Given the description of an element on the screen output the (x, y) to click on. 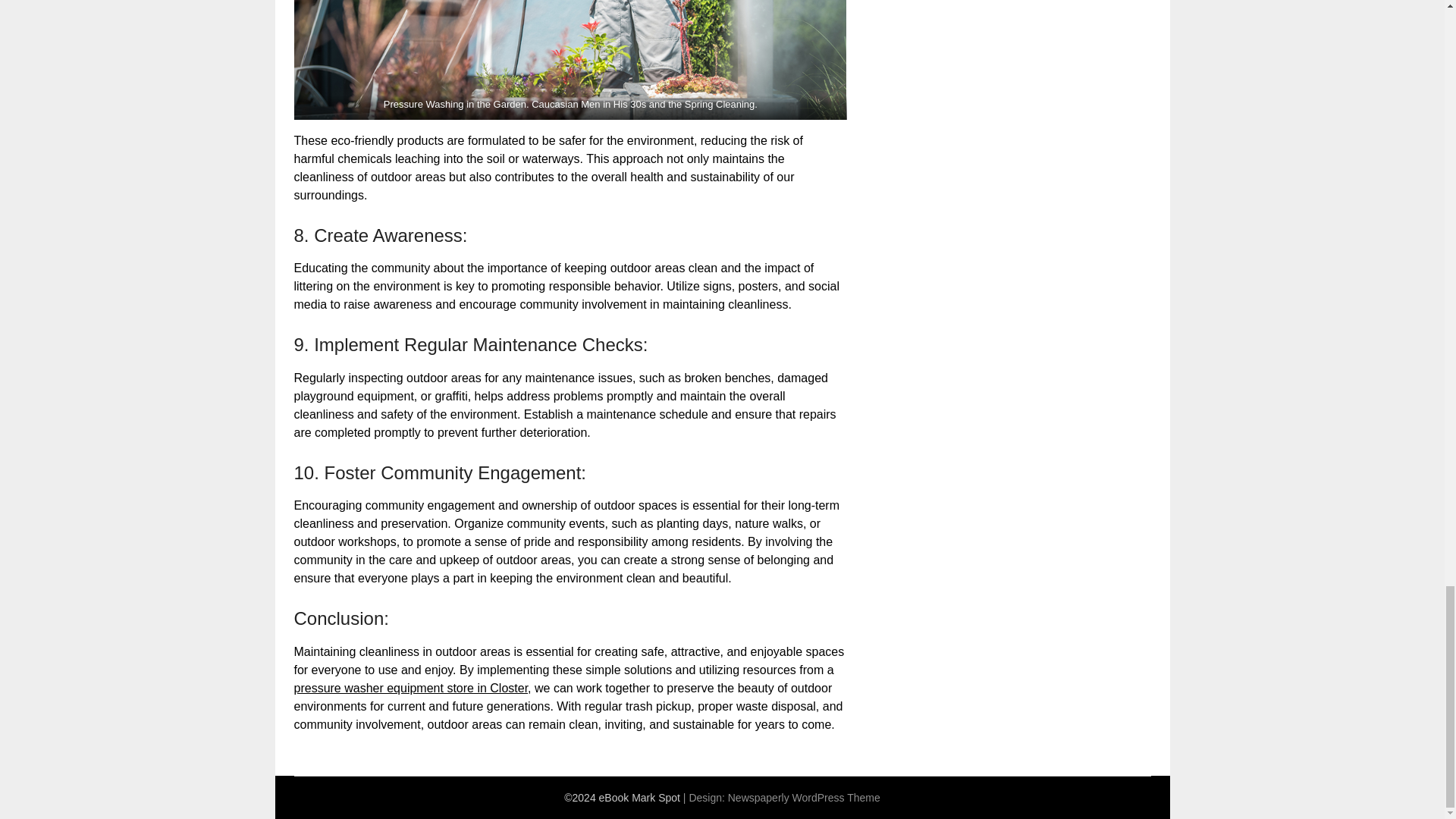
Newspaperly WordPress Theme (804, 797)
pressure washer equipment store in Closter (411, 687)
